Given the description of an element on the screen output the (x, y) to click on. 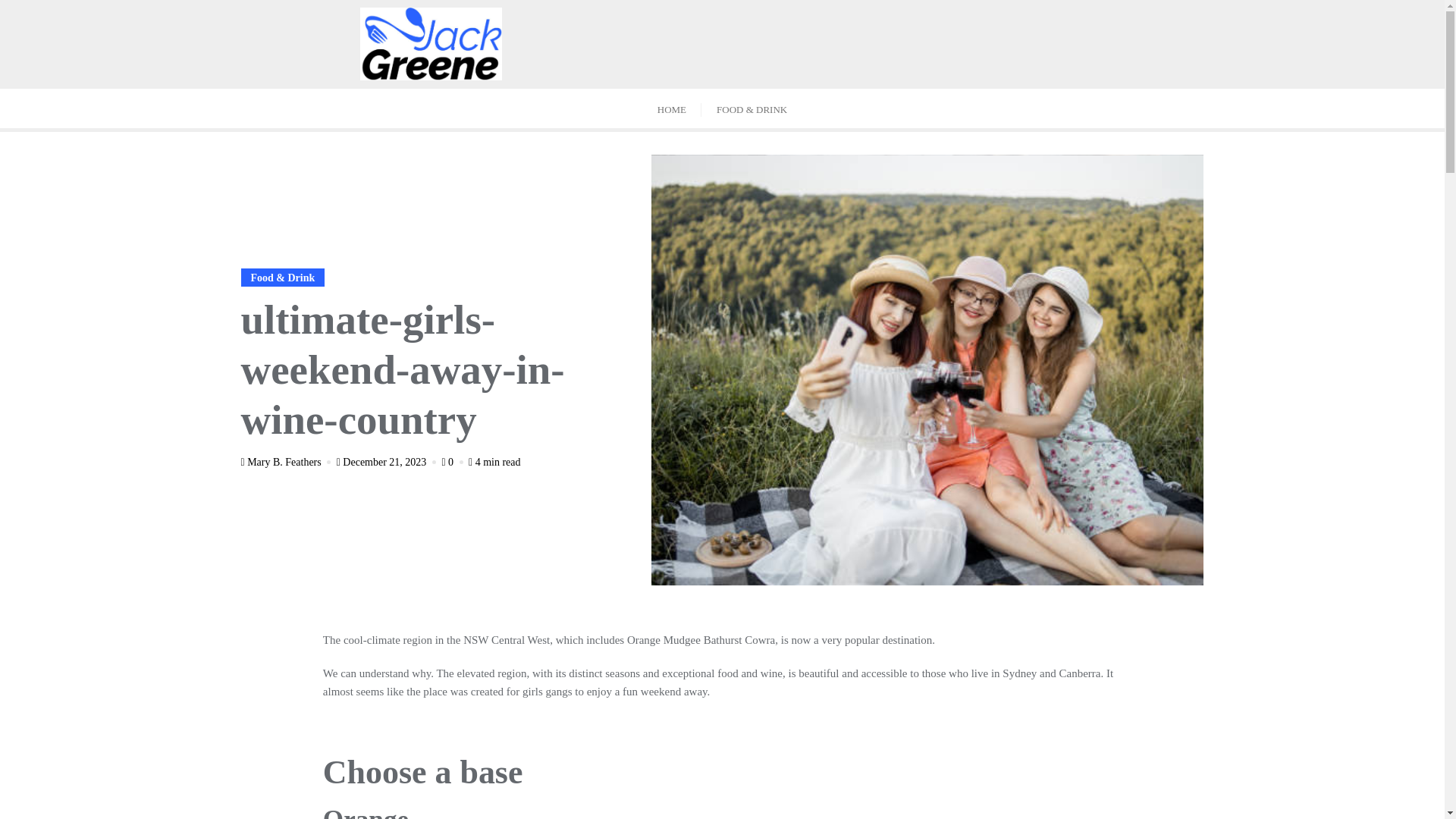
4 min read (494, 461)
Mary B. Feathers (287, 461)
December 21, 2023 (387, 461)
HOME (671, 107)
0 (453, 461)
